Given the description of an element on the screen output the (x, y) to click on. 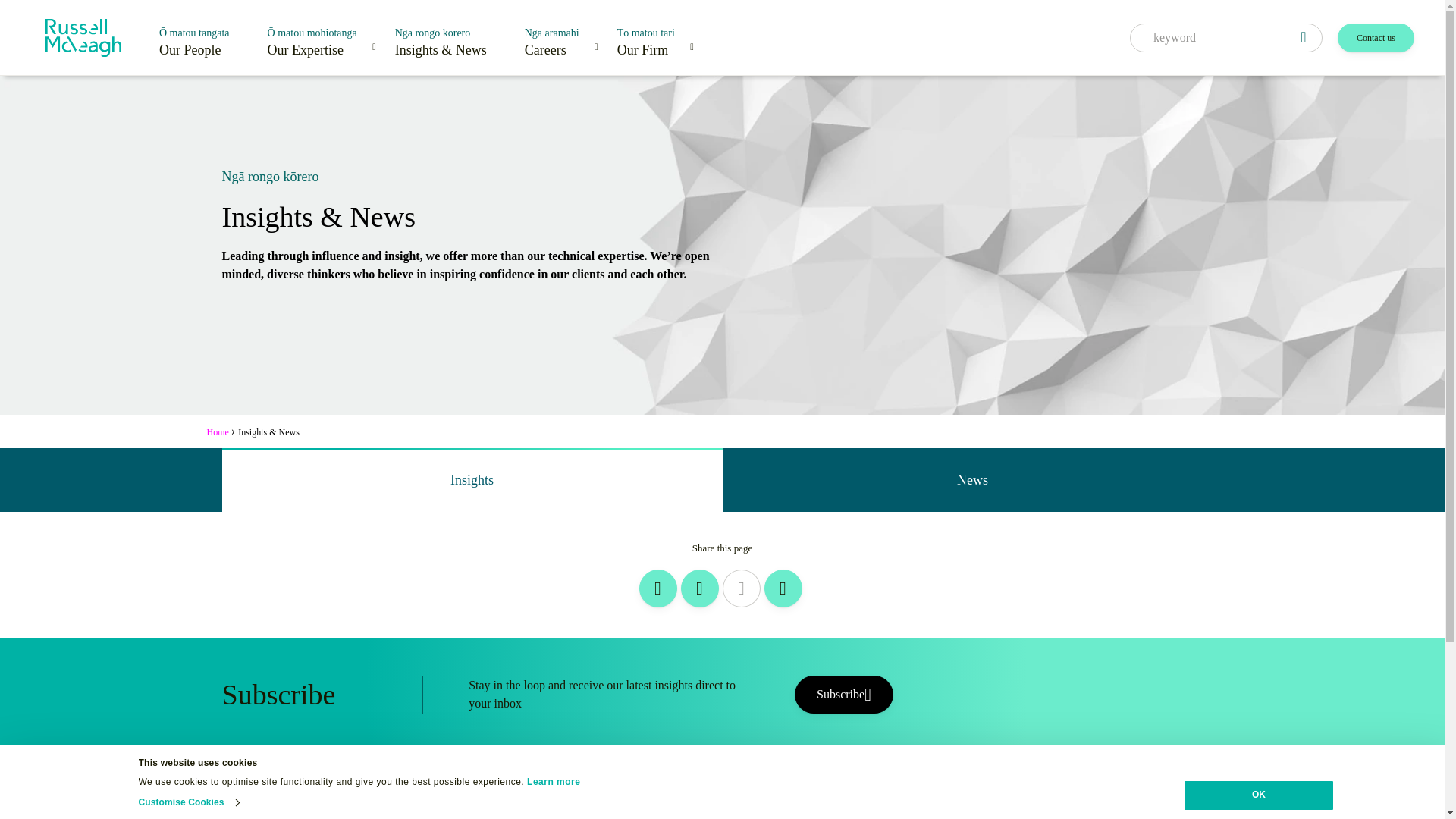
Customise Cookies (188, 802)
Send to a Friend (783, 588)
OK (1258, 795)
Share on LinkedIn (658, 588)
Share on Instagram (700, 588)
Print this page (741, 588)
Learn more (553, 781)
